Given the description of an element on the screen output the (x, y) to click on. 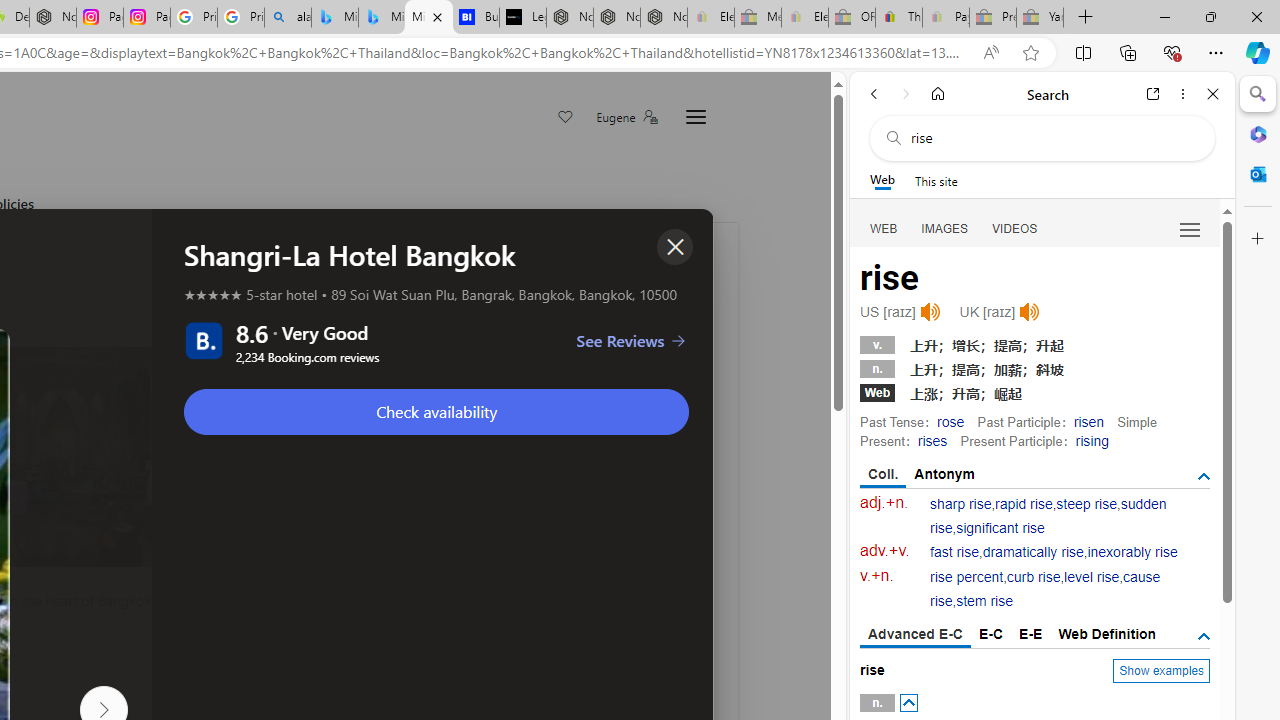
rising (1091, 440)
cause rise (1045, 589)
alabama high school quarterback dies - Search (288, 17)
Advanced E-C (915, 635)
Payments Terms of Use | eBay.com - Sleeping (945, 17)
Yard, Garden & Outdoor Living - Sleeping (1040, 17)
E-E (1030, 633)
